Given the description of an element on the screen output the (x, y) to click on. 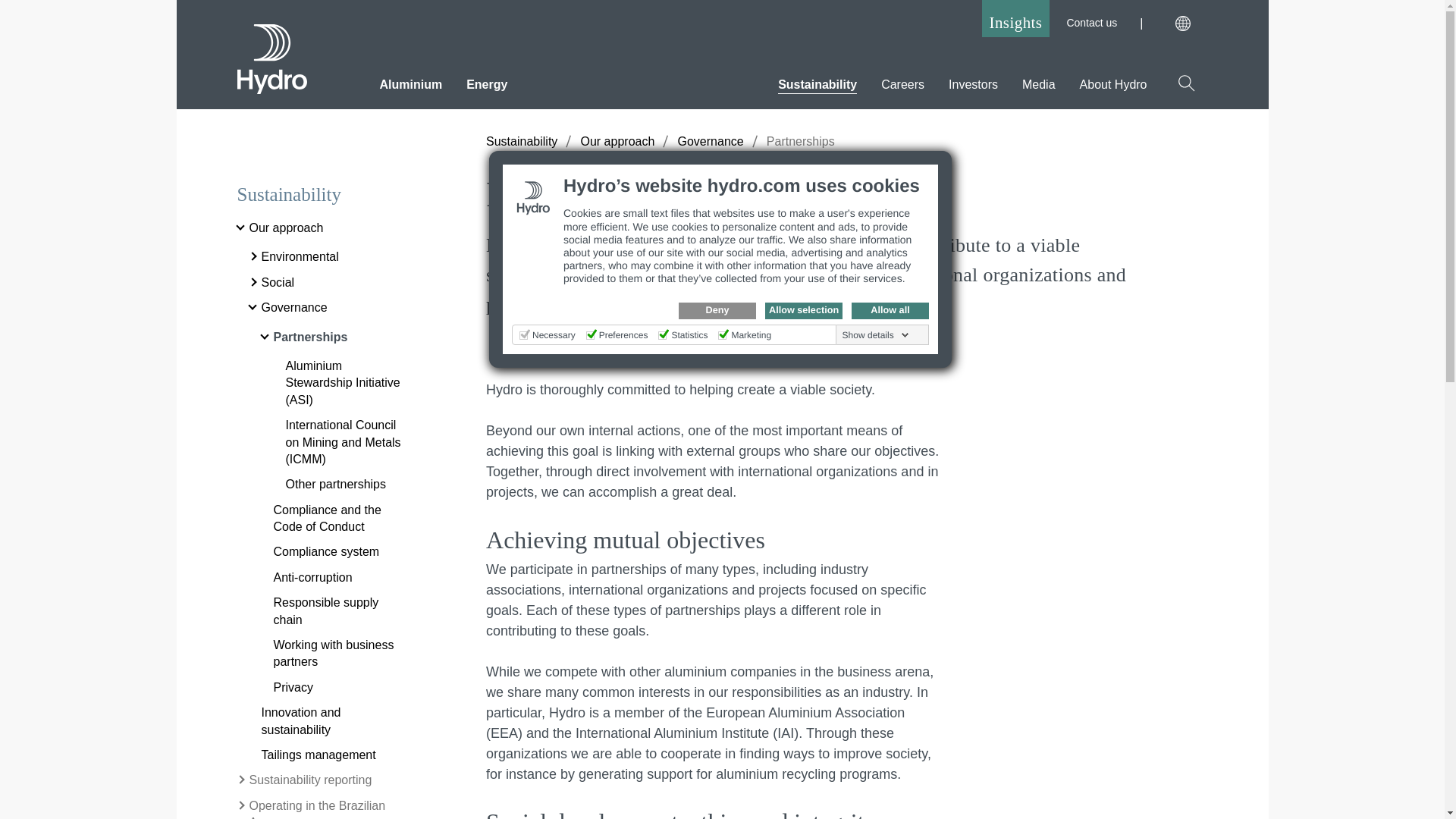
Deny (716, 310)
Allow selection (804, 310)
Allow all (889, 310)
Show details (876, 335)
